Given the description of an element on the screen output the (x, y) to click on. 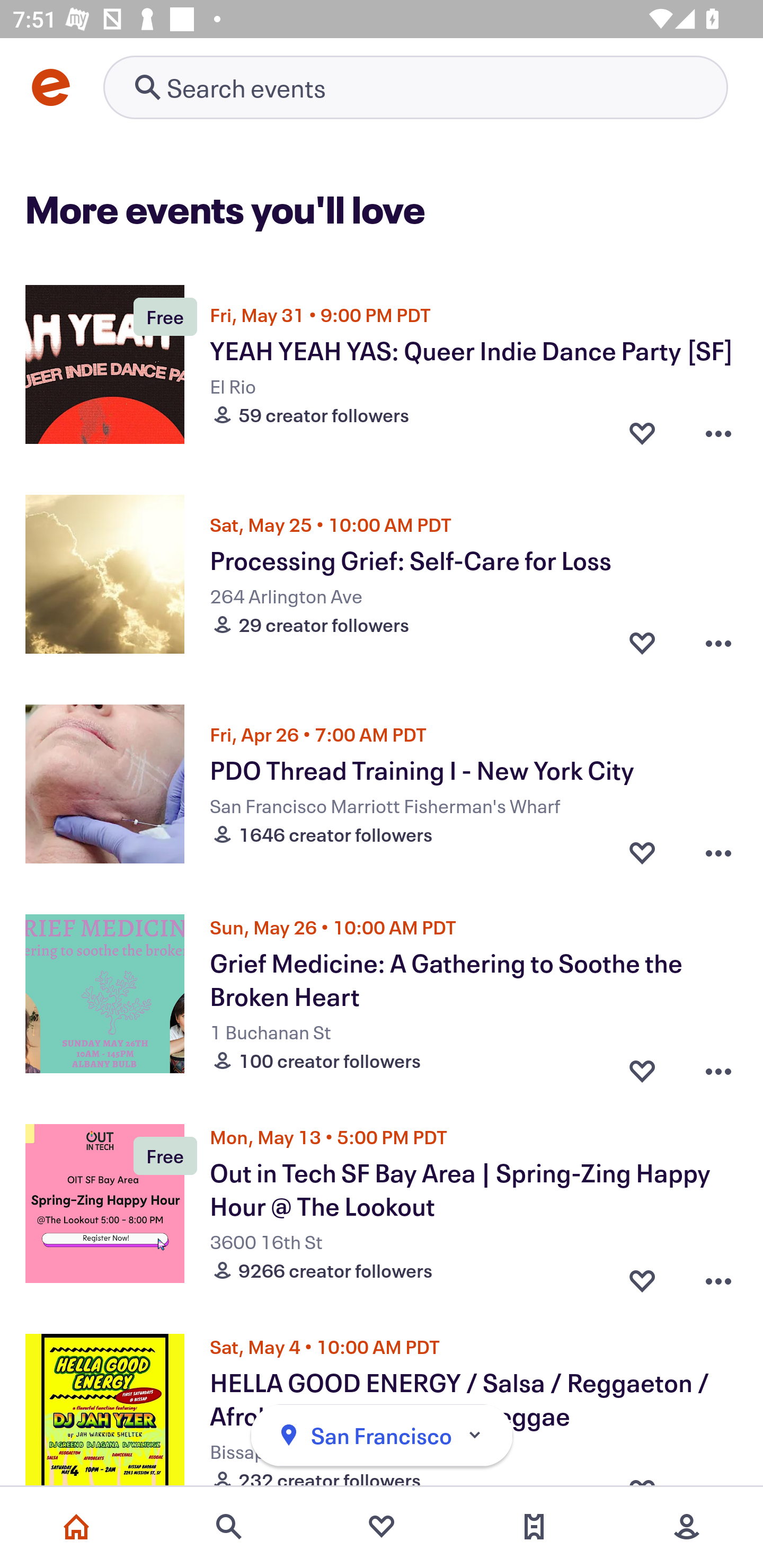
Retry's image Search events (415, 86)
Favorite button (642, 431)
Overflow menu button (718, 431)
Favorite button (642, 641)
Overflow menu button (718, 641)
Favorite button (642, 852)
Overflow menu button (718, 852)
Favorite button (642, 1066)
Overflow menu button (718, 1066)
Favorite button (642, 1275)
Overflow menu button (718, 1275)
San Francisco (381, 1435)
Home (76, 1526)
Search events (228, 1526)
Favorites (381, 1526)
Tickets (533, 1526)
More (686, 1526)
